Given the description of an element on the screen output the (x, y) to click on. 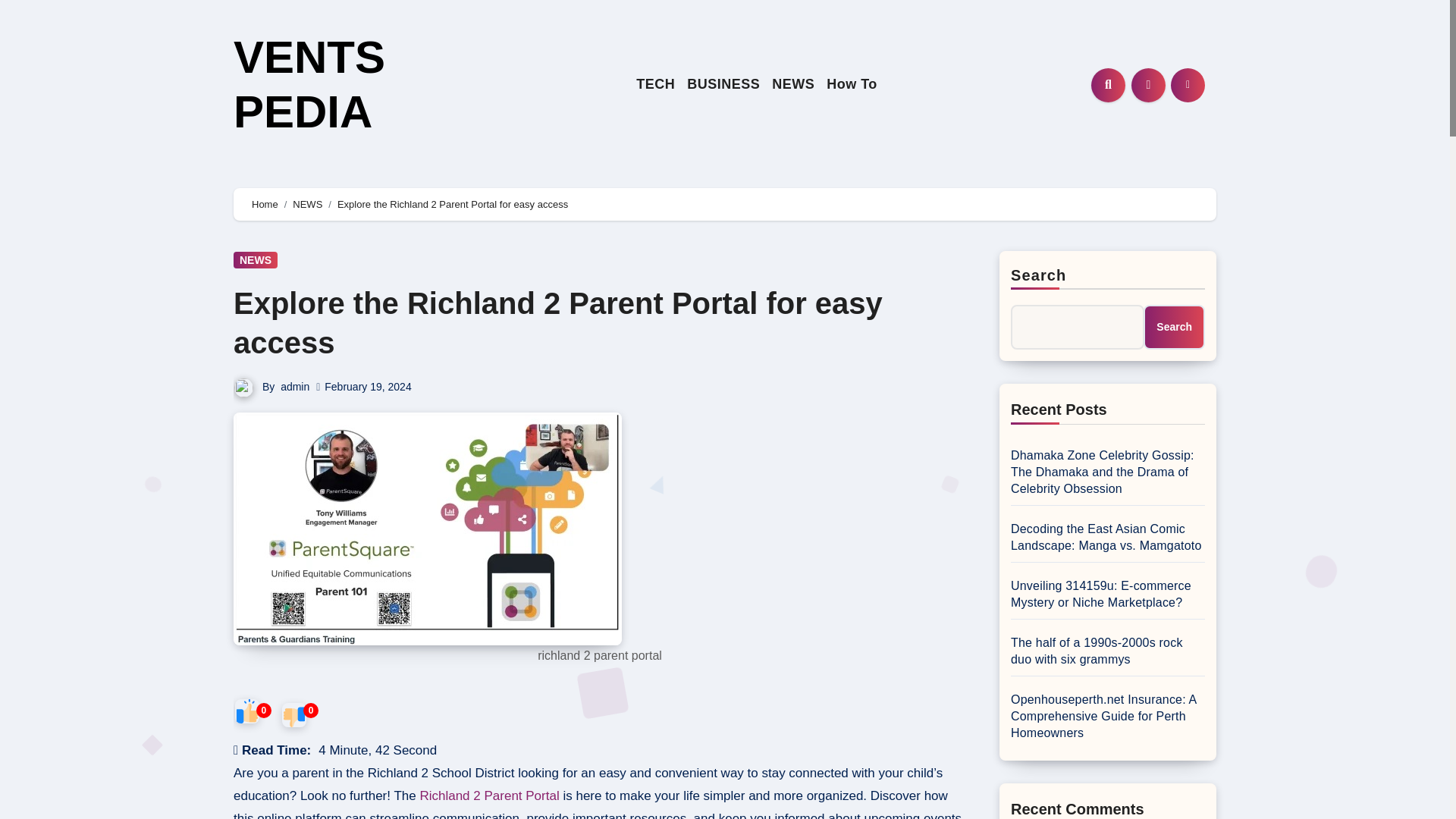
NEWS (793, 84)
TECH (655, 84)
Explore the Richland 2 Parent Portal for easy access (557, 322)
How To (852, 84)
admin (294, 386)
NEWS (793, 84)
February 19, 2024 (367, 386)
NEWS (255, 259)
Home (264, 204)
